Given the description of an element on the screen output the (x, y) to click on. 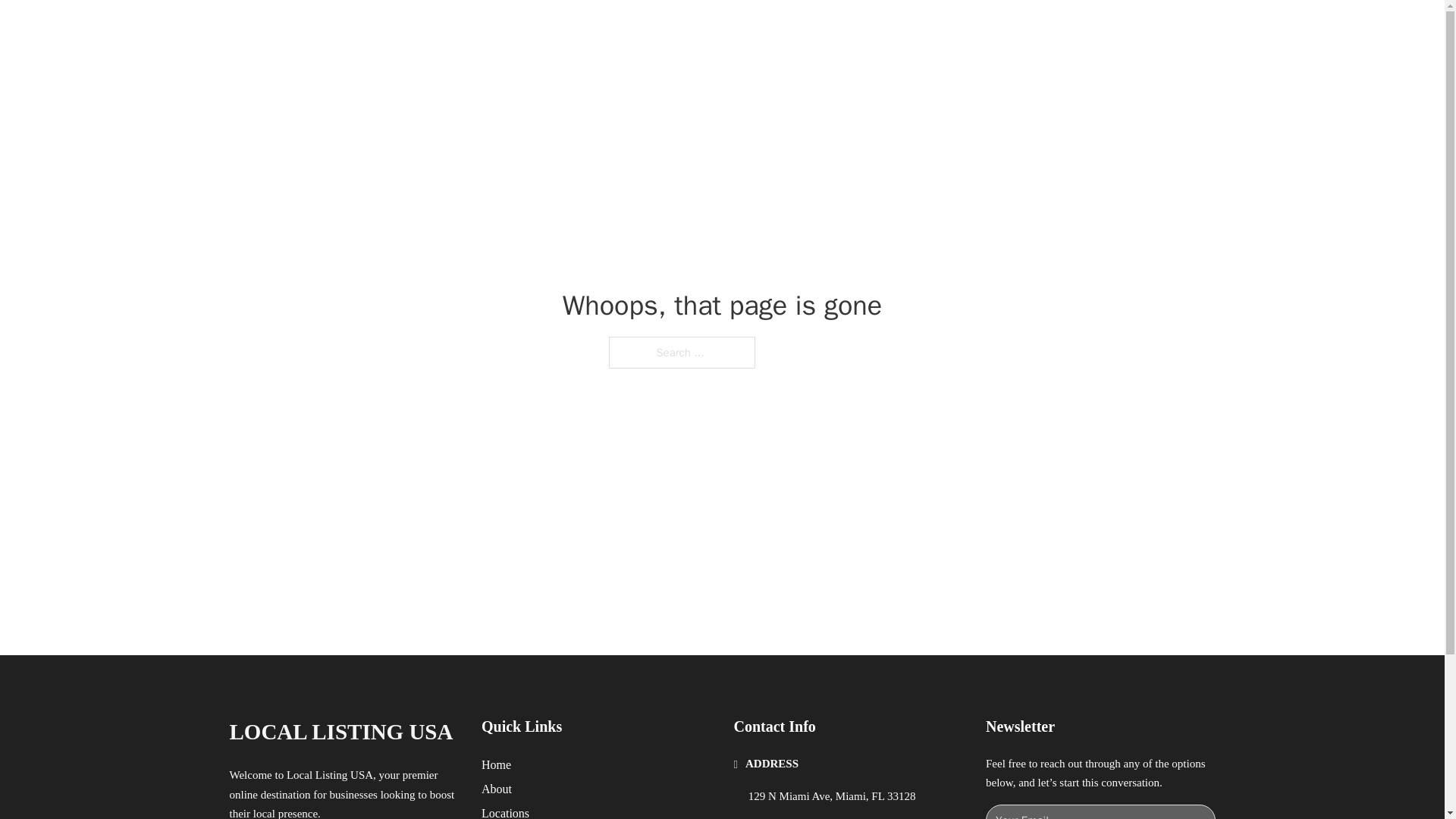
Home (496, 764)
About (496, 788)
LOCATIONS (990, 29)
Locations (505, 811)
HOME (919, 29)
LOCAL LISTING USA (340, 732)
LOCAL LISTING USA (408, 28)
